Given the description of an element on the screen output the (x, y) to click on. 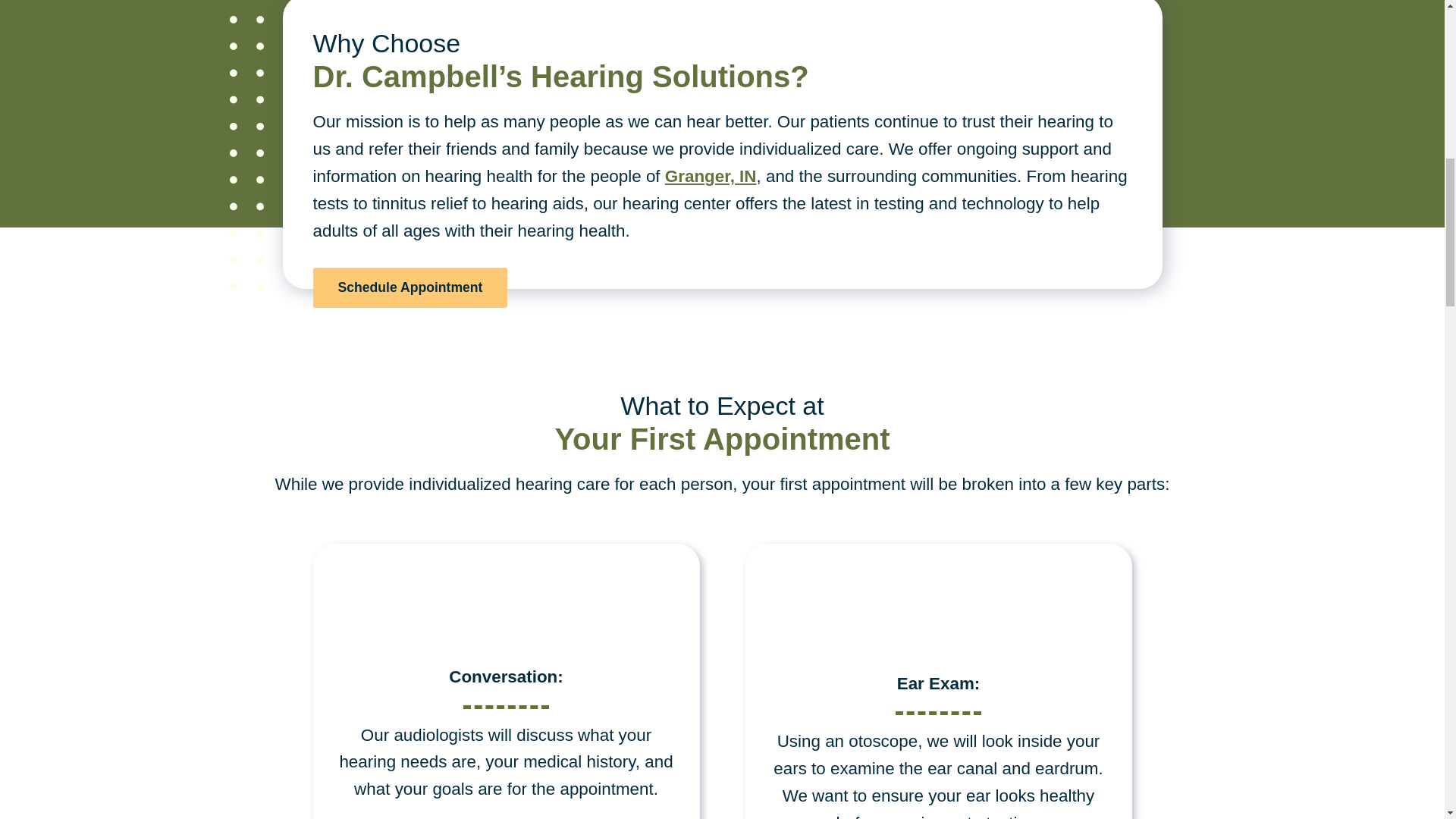
Granger, IN (711, 176)
Schedule Appointment (409, 287)
